Given the description of an element on the screen output the (x, y) to click on. 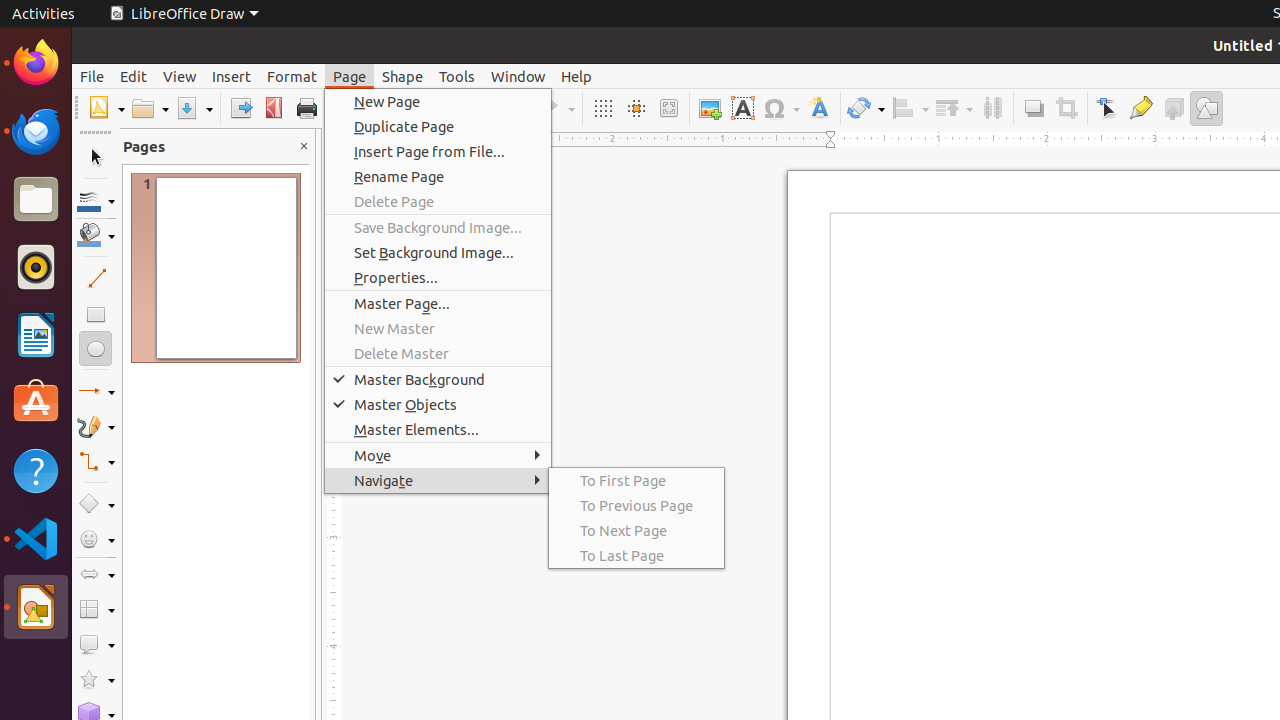
Open Element type: push-button (150, 108)
Page Element type: menu (349, 76)
Toggle Extrusion Element type: push-button (1173, 108)
Insert Element type: menu (231, 76)
